Given the description of an element on the screen output the (x, y) to click on. 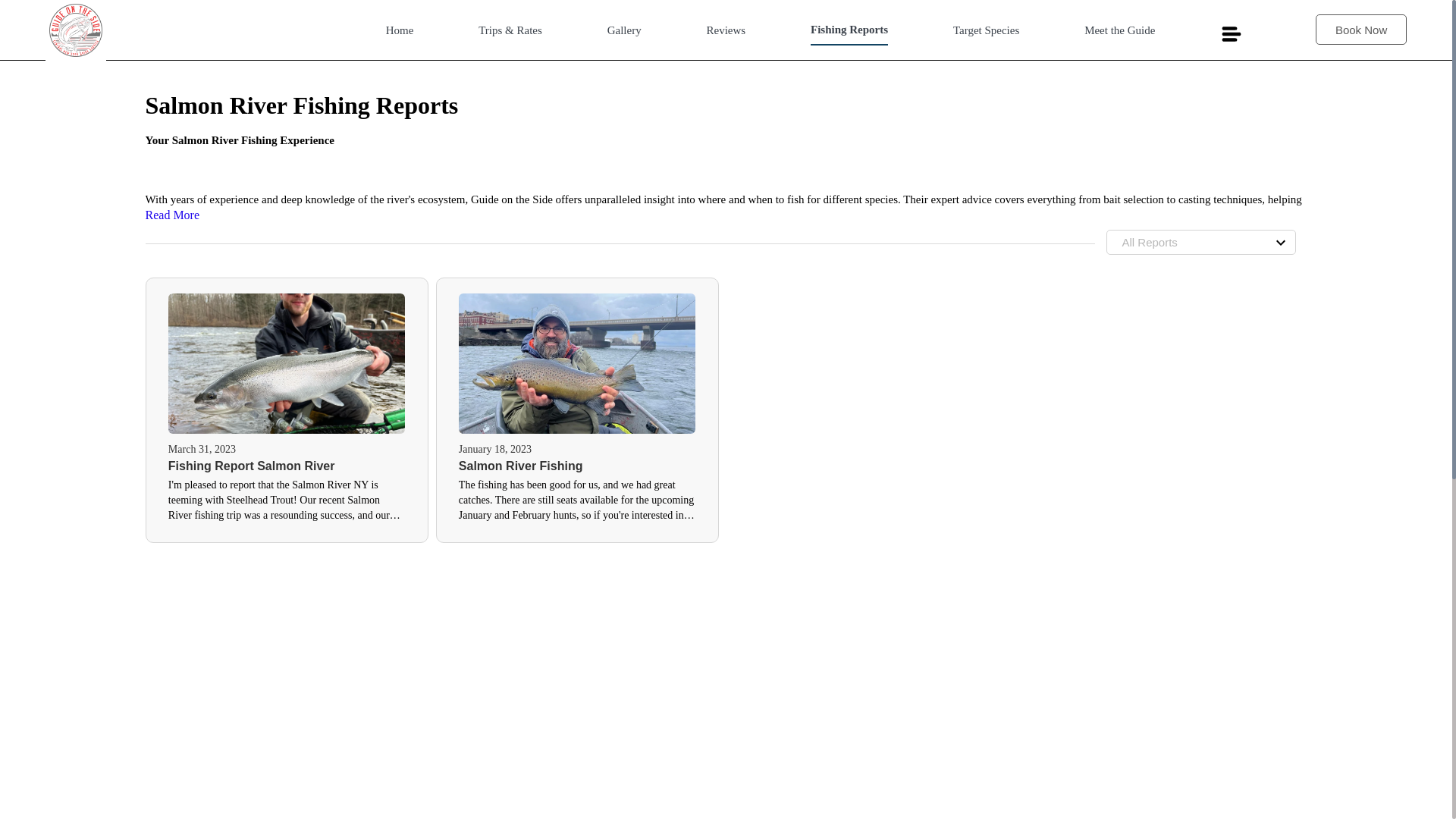
Reviews (725, 34)
Fishing Reports (849, 33)
Book Now (1356, 33)
Gallery (624, 34)
Book Now (1361, 29)
Target Species (986, 34)
Home (399, 34)
Meet the Guide (1119, 34)
All Reports (1200, 242)
